Given the description of an element on the screen output the (x, y) to click on. 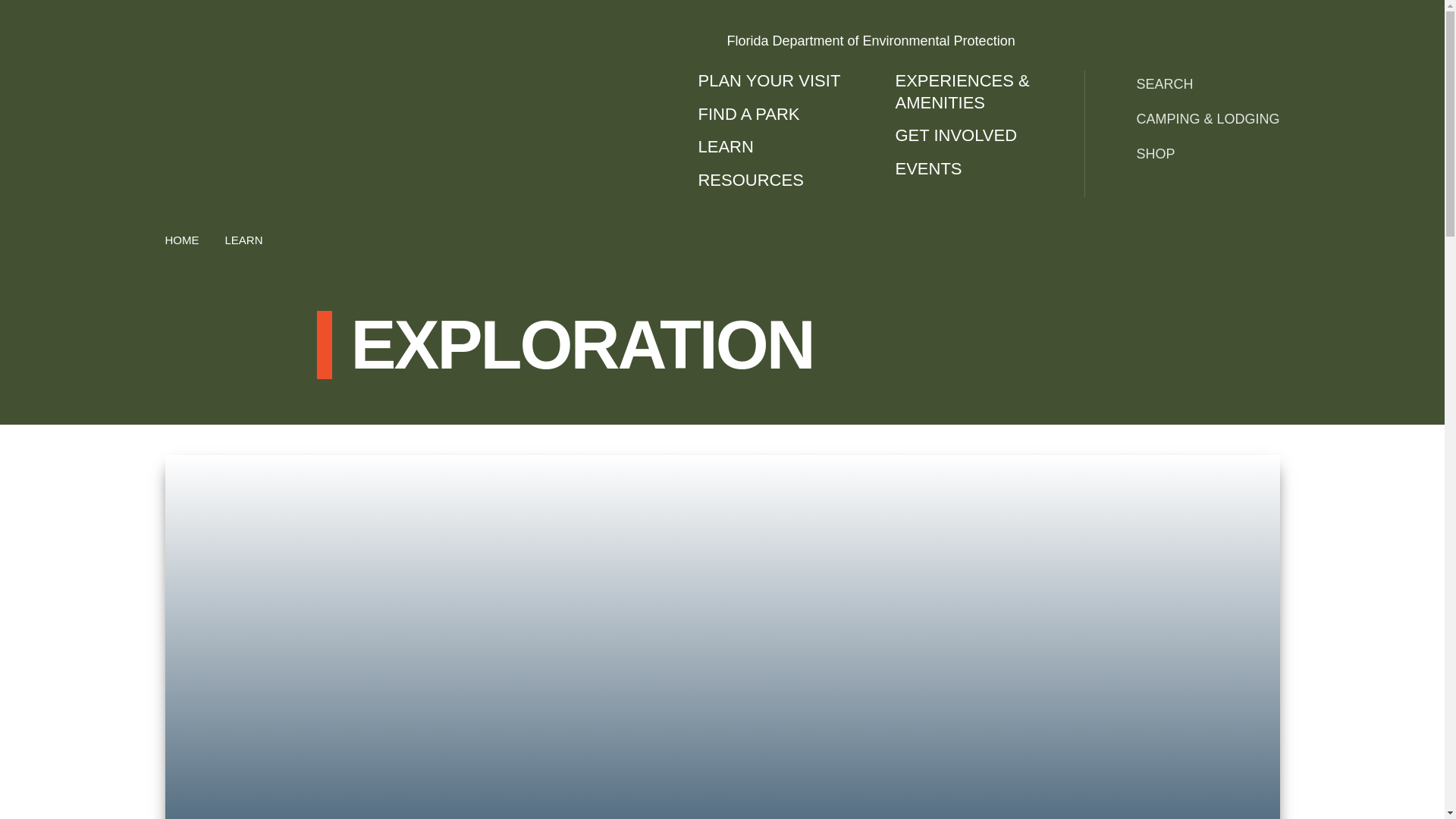
Florida Department of Environmental Protection (988, 40)
FIND A PARK (780, 115)
HOME (182, 239)
RESOURCES (780, 180)
SHOP (1193, 153)
PLAN YOUR VISIT (780, 81)
GET INVOLVED (978, 136)
Skip to main content (624, 4)
LEARN (244, 239)
SEARCH (1193, 83)
Florida Department of Environmental Protection (988, 40)
EVENTS (978, 169)
LEARN (780, 147)
